Given the description of an element on the screen output the (x, y) to click on. 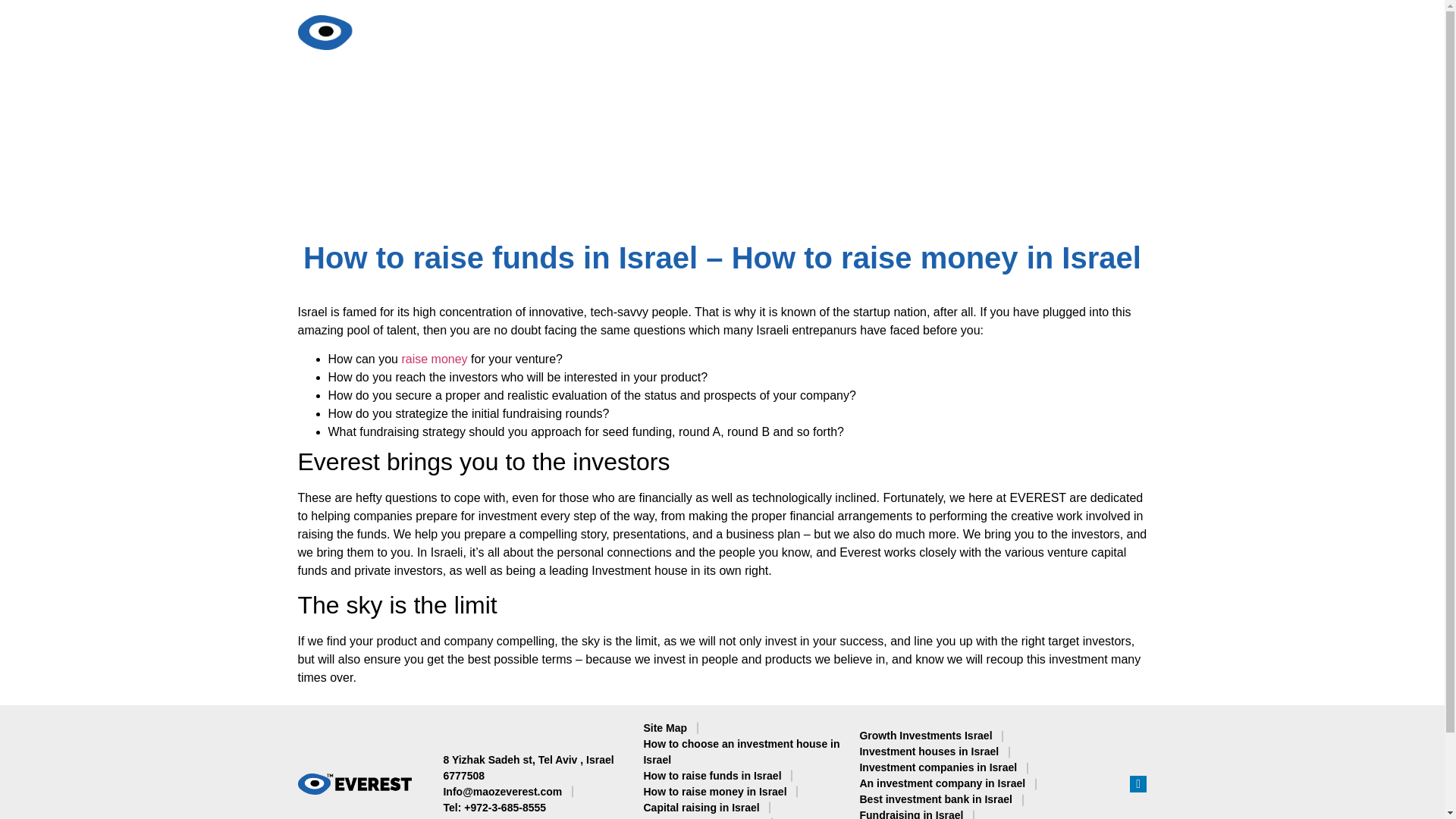
About (550, 32)
An investment company in Israel (942, 783)
Fundraising in Israel (910, 813)
Investment houses in Israel (928, 751)
How to raise money in Israel (714, 791)
Investment Banking (674, 32)
Everest Funds (828, 32)
Raising capital in Israel (702, 817)
Growth Investments Israel (925, 735)
How to raise funds in Israel (711, 775)
